Given the description of an element on the screen output the (x, y) to click on. 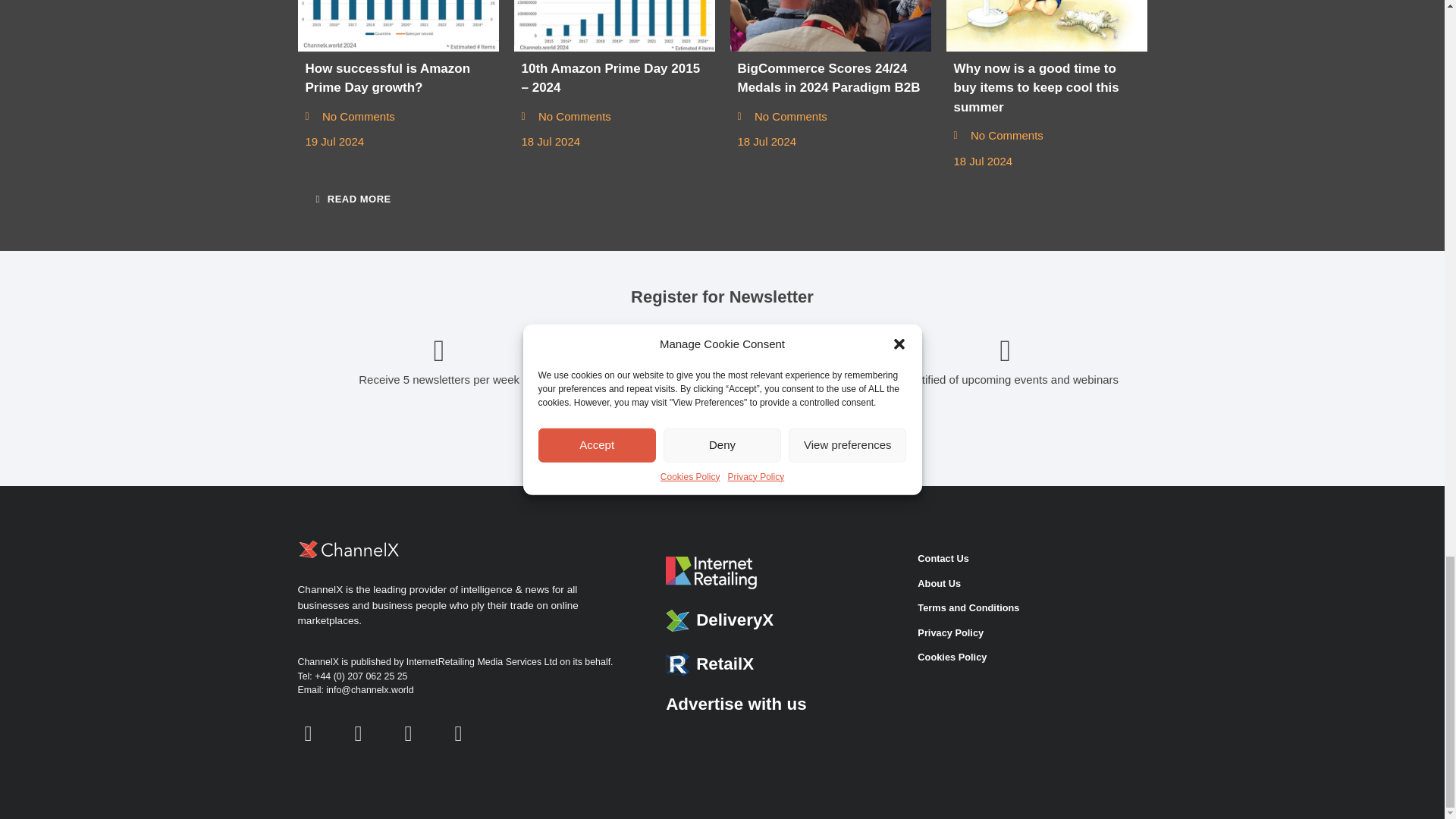
BigCommerce Scores 24 out of 24 Medals in 2024 Paradigm B2B (829, 25)
Why now is a good time to buy items to keep cool this summer (1046, 25)
How successful is Amazon Prime Day growth (397, 25)
